Given the description of an element on the screen output the (x, y) to click on. 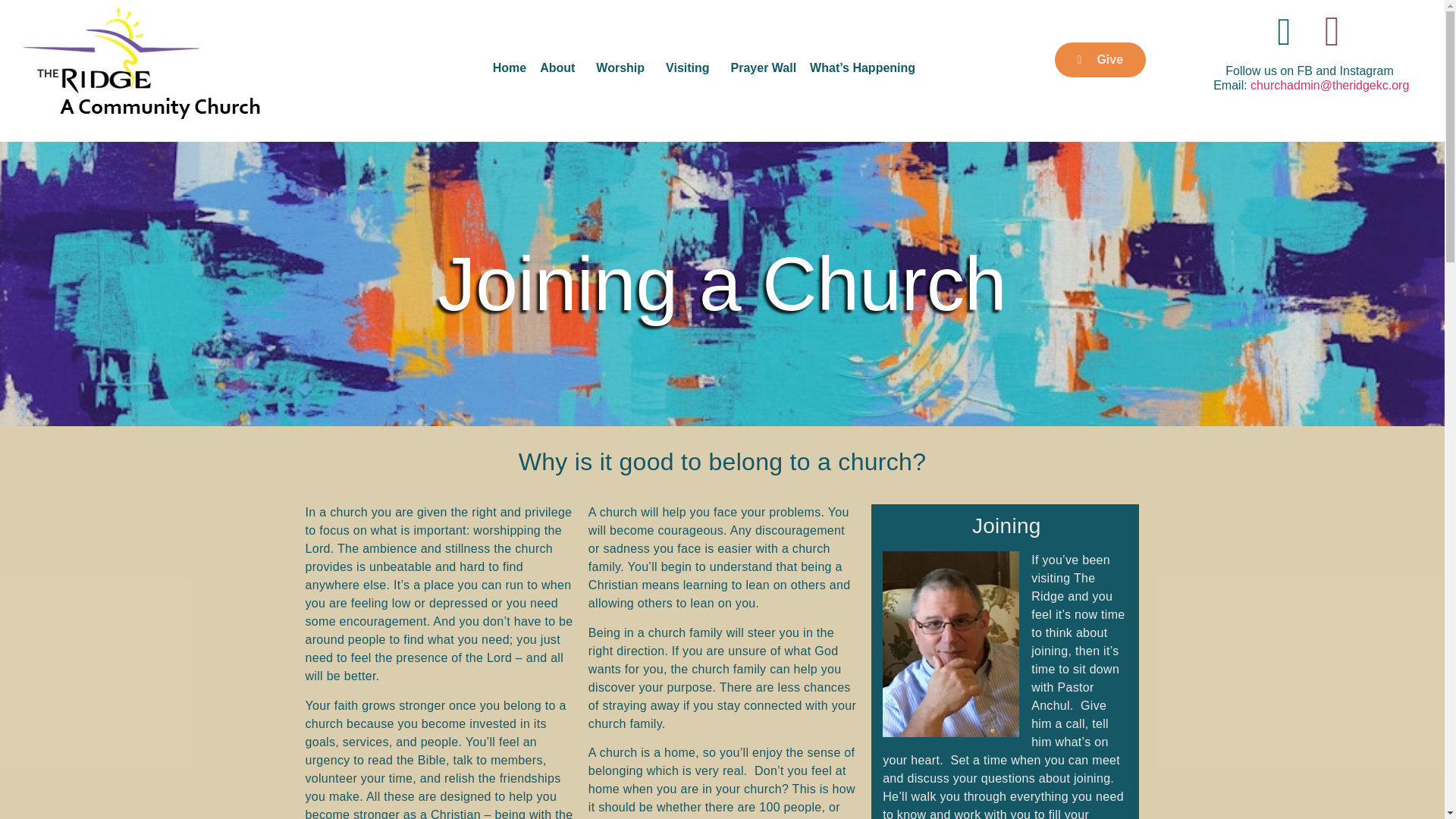
About (560, 67)
Worship (624, 67)
Give (1100, 59)
Visiting (691, 67)
Home (509, 67)
Prayer Wall (763, 67)
